Given the description of an element on the screen output the (x, y) to click on. 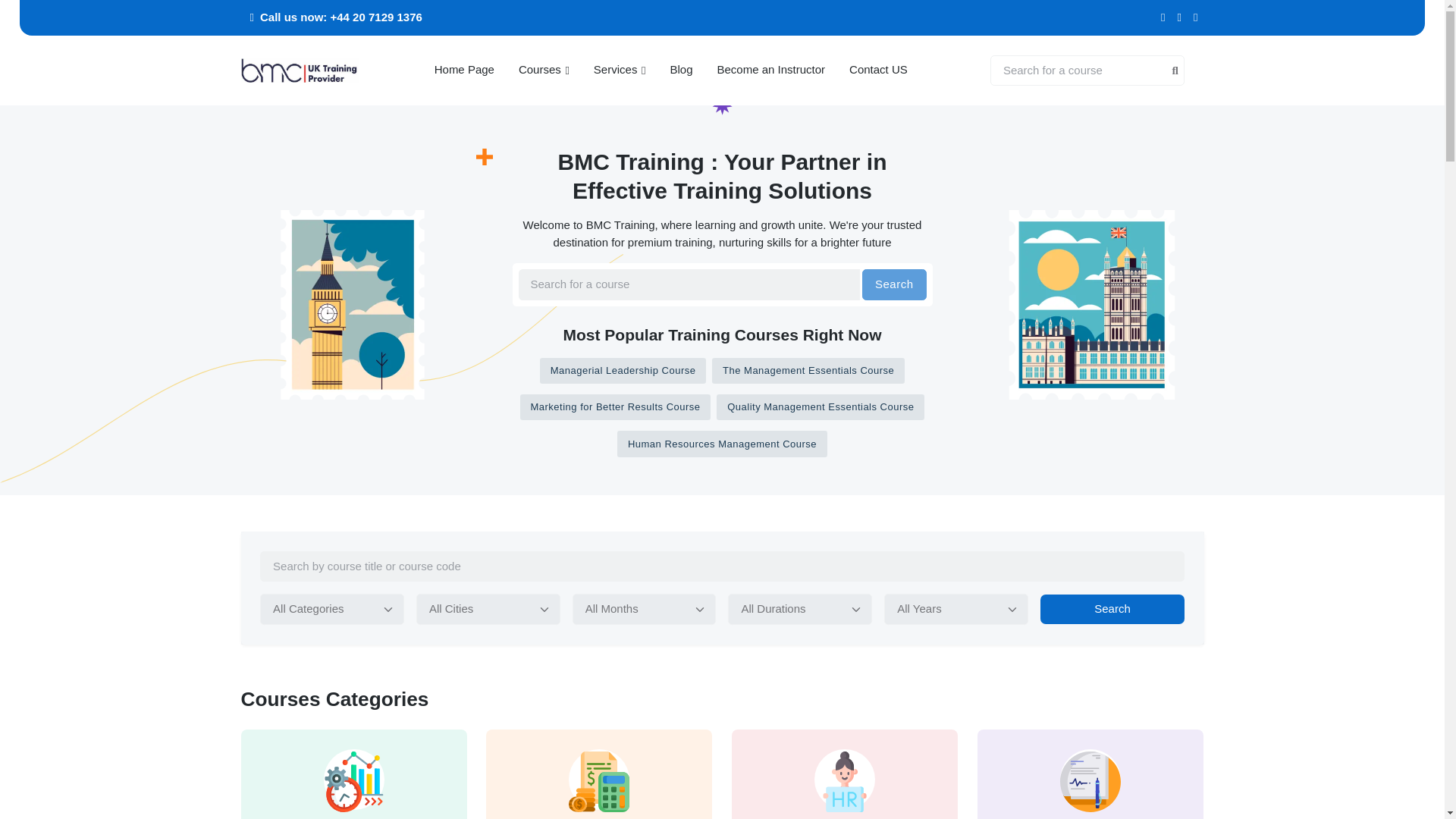
Blog (681, 69)
The Management Essentials Course (807, 370)
Become an Instructor (771, 69)
Marketing for Better Results Course (615, 406)
Contact US (878, 69)
Search (893, 284)
Home Page (464, 69)
Search (1113, 609)
Human Resources Management Course (722, 443)
Managerial Leadership Course (623, 370)
Quality Management Essentials Course (820, 406)
Courses (543, 69)
Services (619, 69)
